Given the description of an element on the screen output the (x, y) to click on. 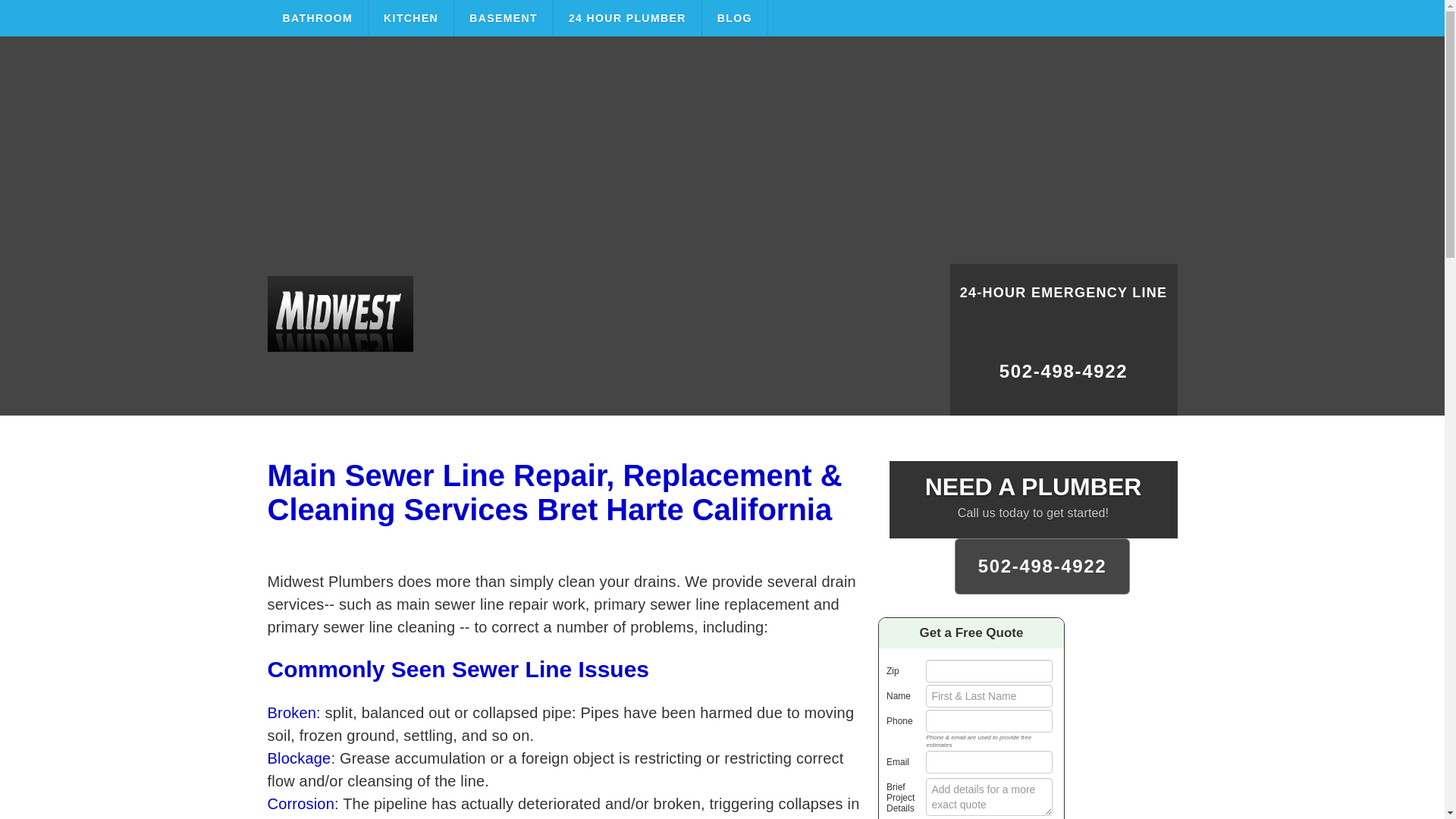
KITCHEN (411, 18)
BASEMENT (503, 18)
24 HOUR PLUMBER (627, 18)
502-498-4922 (1062, 377)
24-HOUR EMERGENCY LINE (1062, 301)
502-498-4922 (1043, 566)
BATHROOM (317, 18)
BLOG (734, 18)
